Given the description of an element on the screen output the (x, y) to click on. 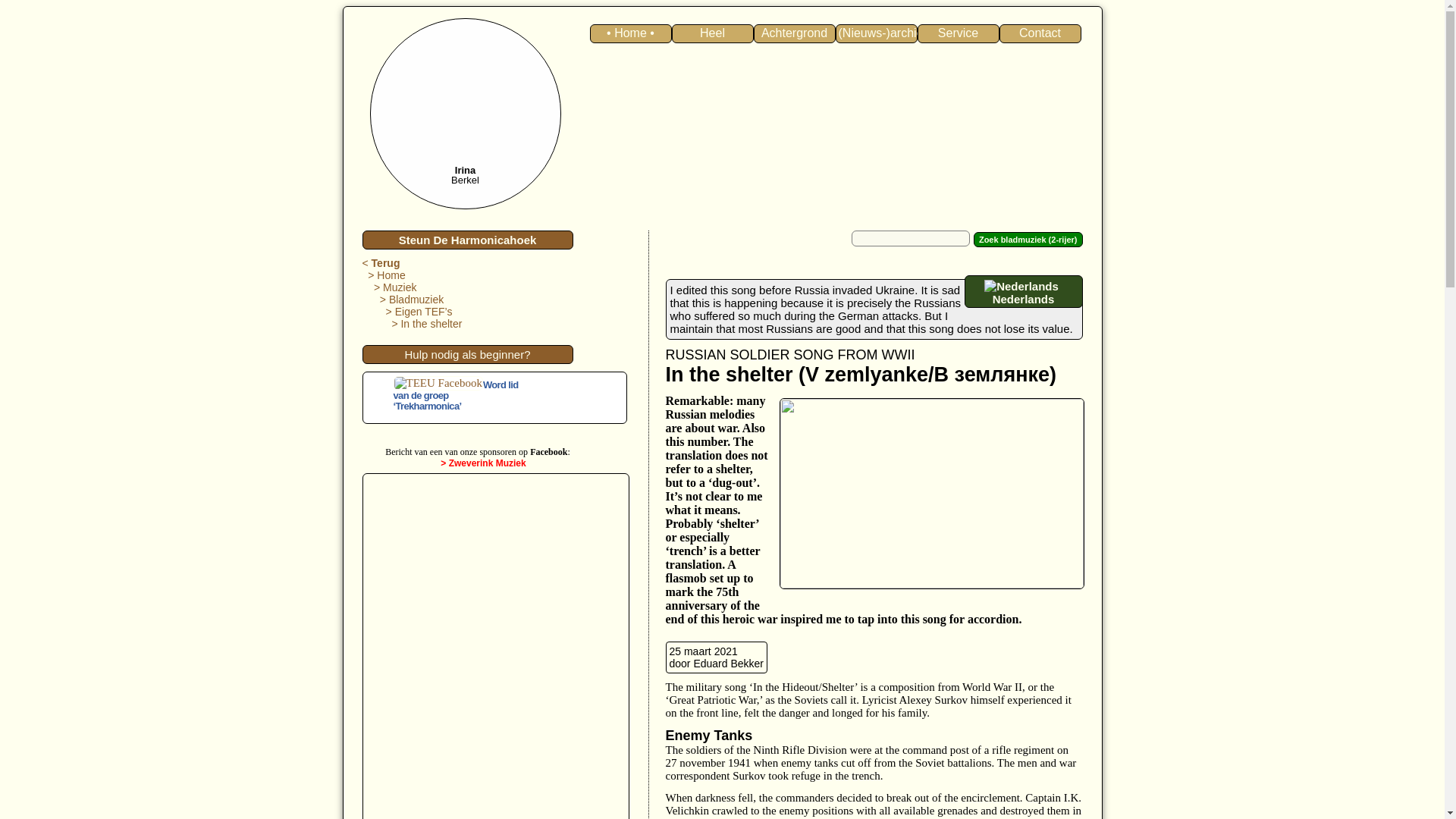
Heel interessant (712, 33)
Achtergrond (794, 33)
